Given the description of an element on the screen output the (x, y) to click on. 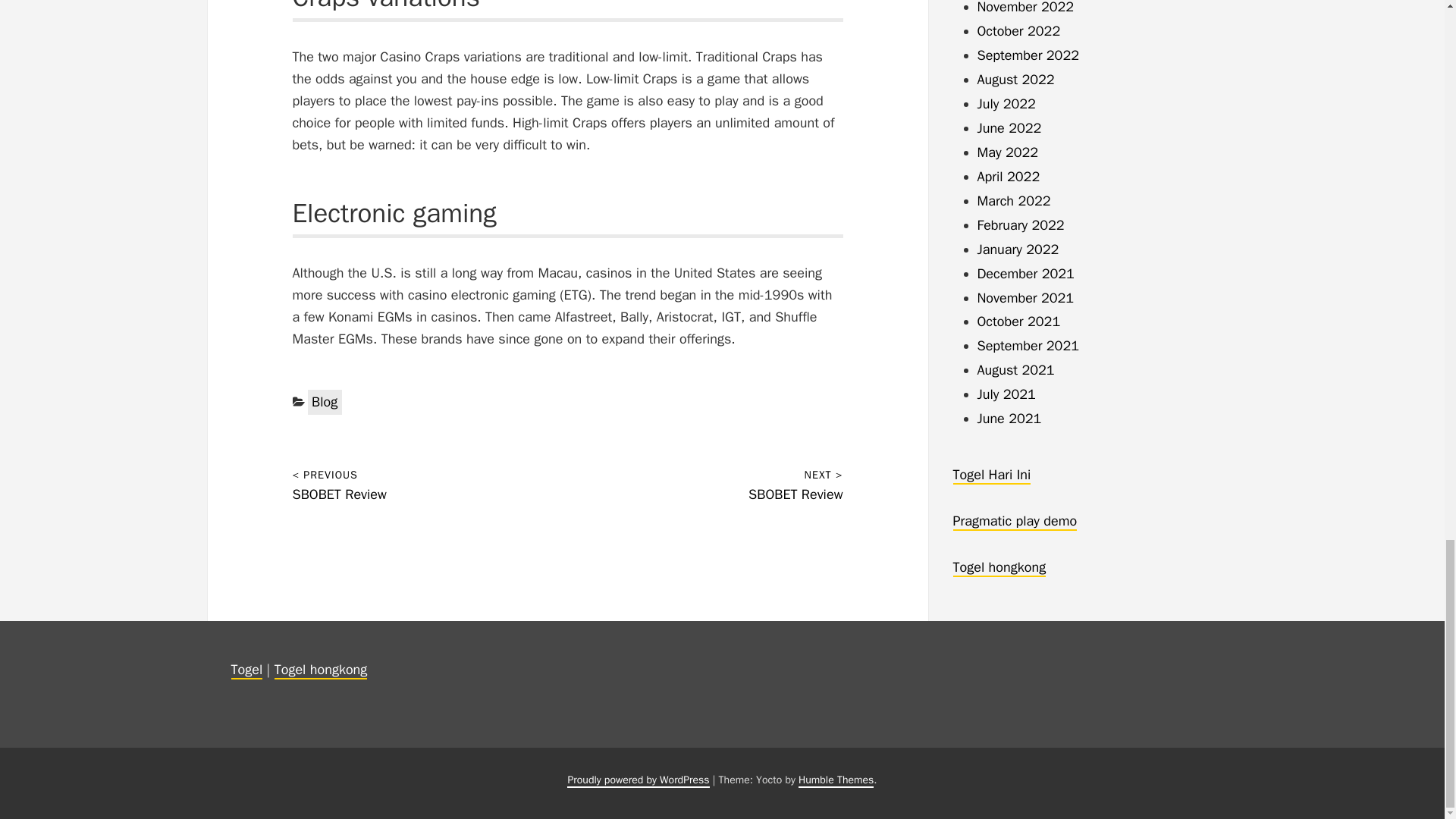
Blog (324, 402)
